Given the description of an element on the screen output the (x, y) to click on. 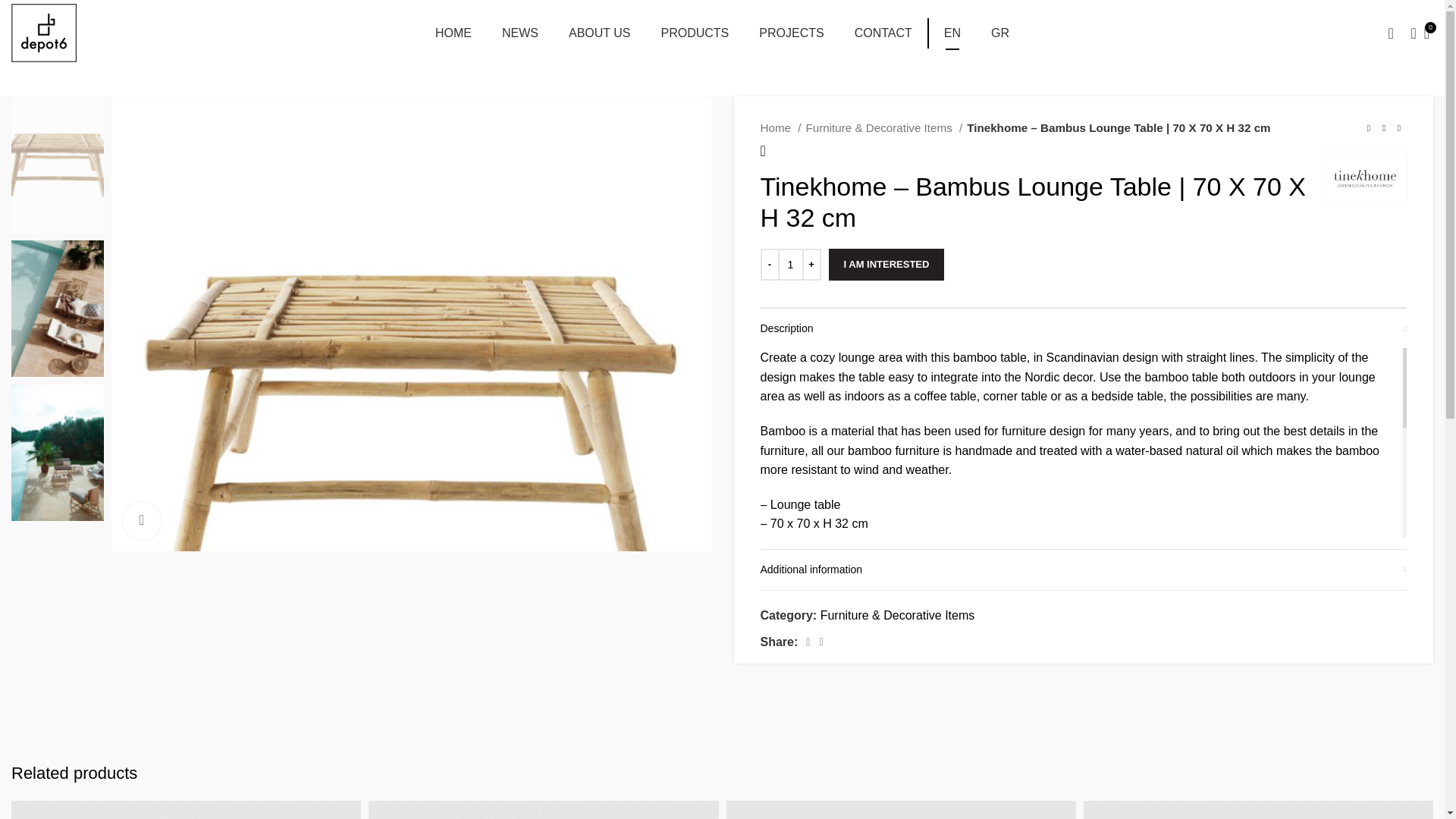
Home (780, 127)
HOME (453, 33)
PROJECTS (791, 33)
PRODUCTS (695, 33)
CONTACT (883, 33)
Tinekhome (722, 33)
I AM INTERESTED (1364, 179)
ABOUT US (885, 264)
NEWS (599, 33)
Log in (520, 33)
